Given the description of an element on the screen output the (x, y) to click on. 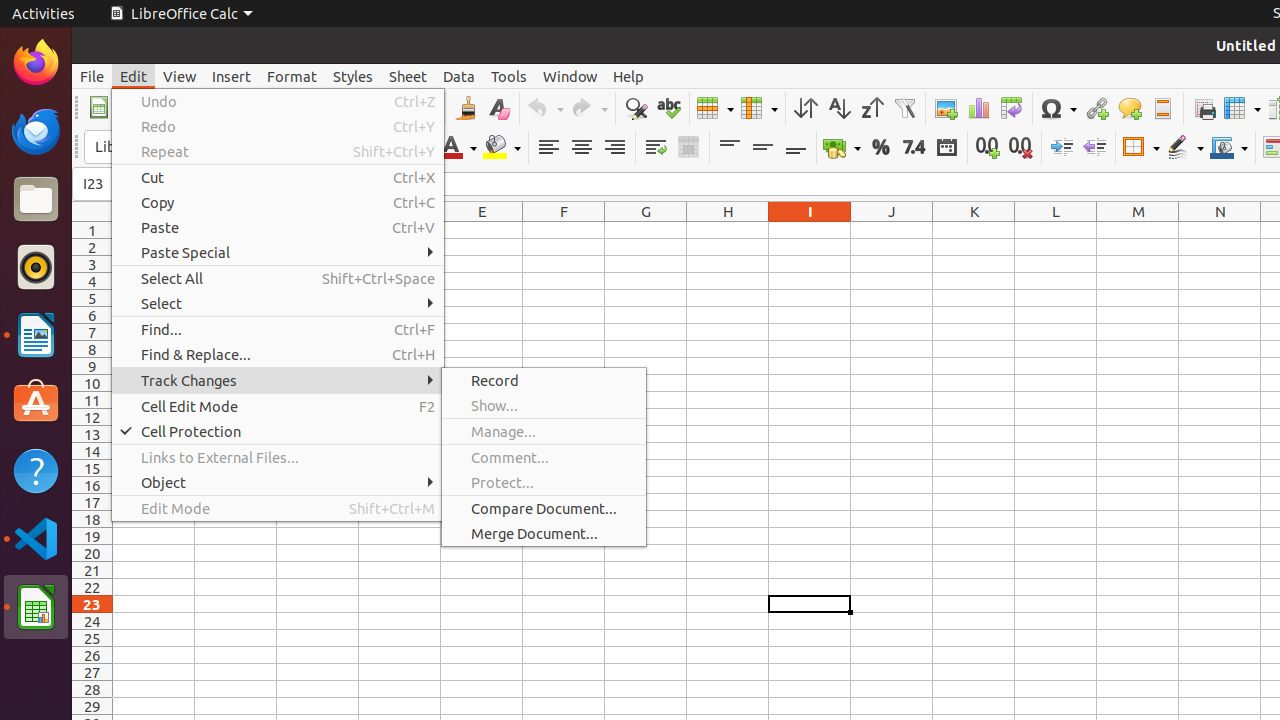
Compare Document... Element type: menu-item (544, 508)
Cell Edit Mode Element type: menu-item (278, 406)
Pivot Table Element type: push-button (1011, 108)
Find... Element type: menu-item (278, 329)
